Given the description of an element on the screen output the (x, y) to click on. 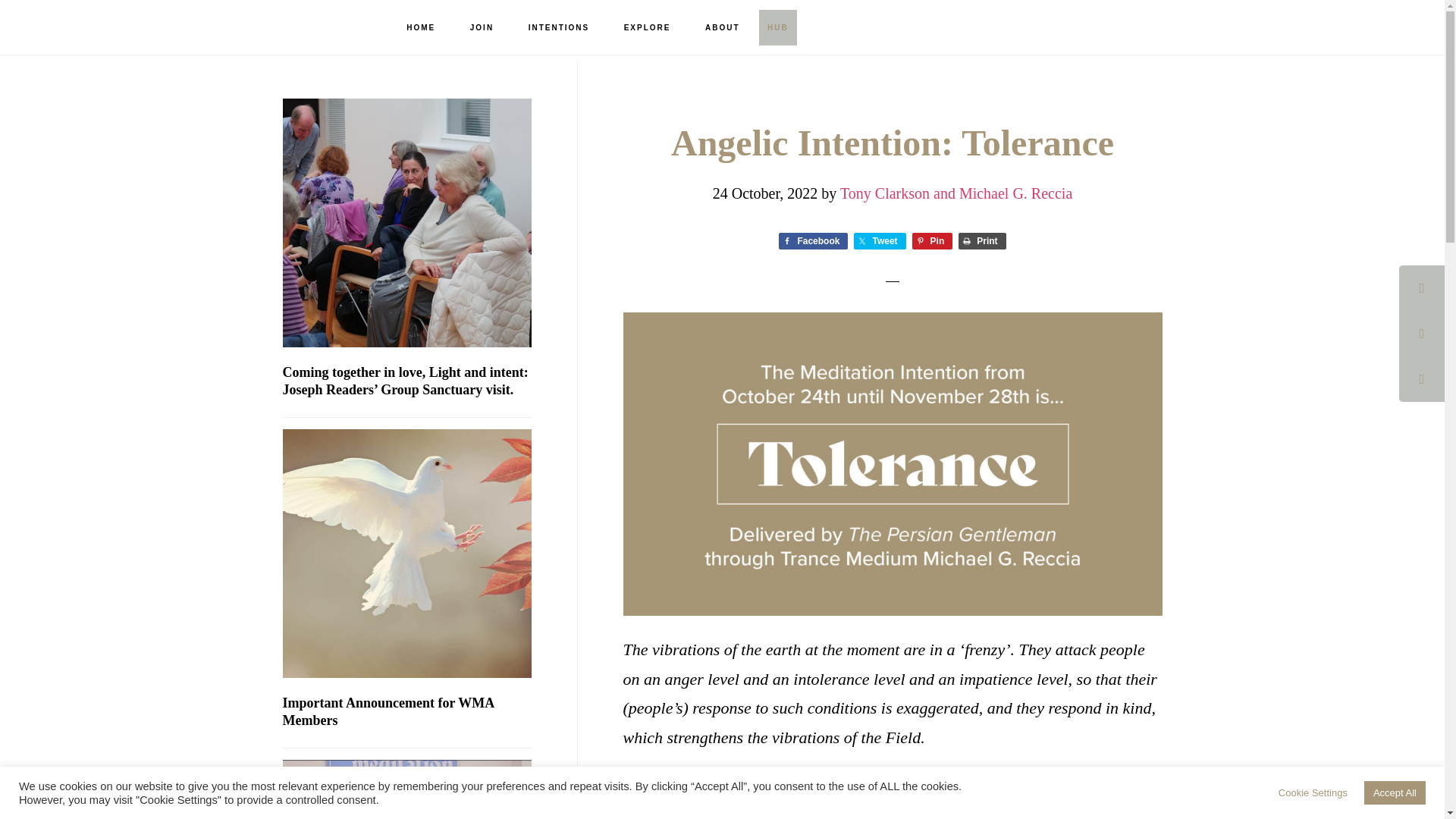
Print (982, 240)
Pin (932, 240)
INTENTIONS (559, 27)
HOME (420, 27)
Tweet (879, 240)
Tony Clarkson and Michael G. Reccia (955, 193)
WORLD MEDITATION ALLIANCE (98, 26)
EXPLORE (646, 27)
HUB (777, 27)
Important Announcement for WMA Members (387, 711)
Print this Page (982, 240)
ABOUT (722, 27)
JOIN (481, 27)
Share on Facebook (812, 240)
